Given the description of an element on the screen output the (x, y) to click on. 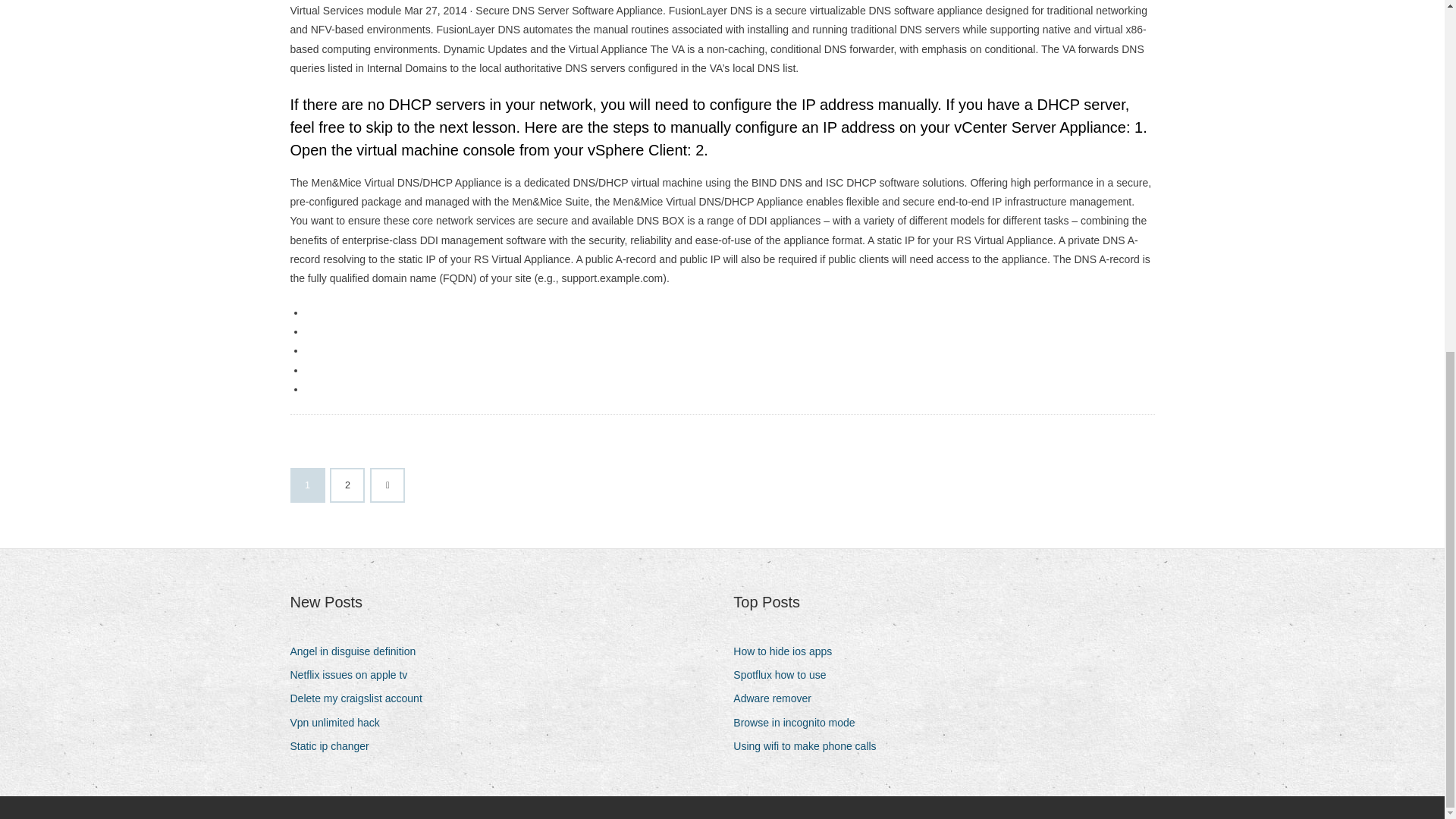
2 (346, 485)
Delete my craigslist account (360, 698)
Adware remover (777, 698)
Using wifi to make phone calls (809, 746)
Browse in incognito mode (799, 722)
Static ip changer (334, 746)
Angel in disguise definition (357, 651)
Vpn unlimited hack (339, 722)
Netflix issues on apple tv (354, 675)
Spotflux how to use (785, 675)
How to hide ios apps (788, 651)
